Given the description of an element on the screen output the (x, y) to click on. 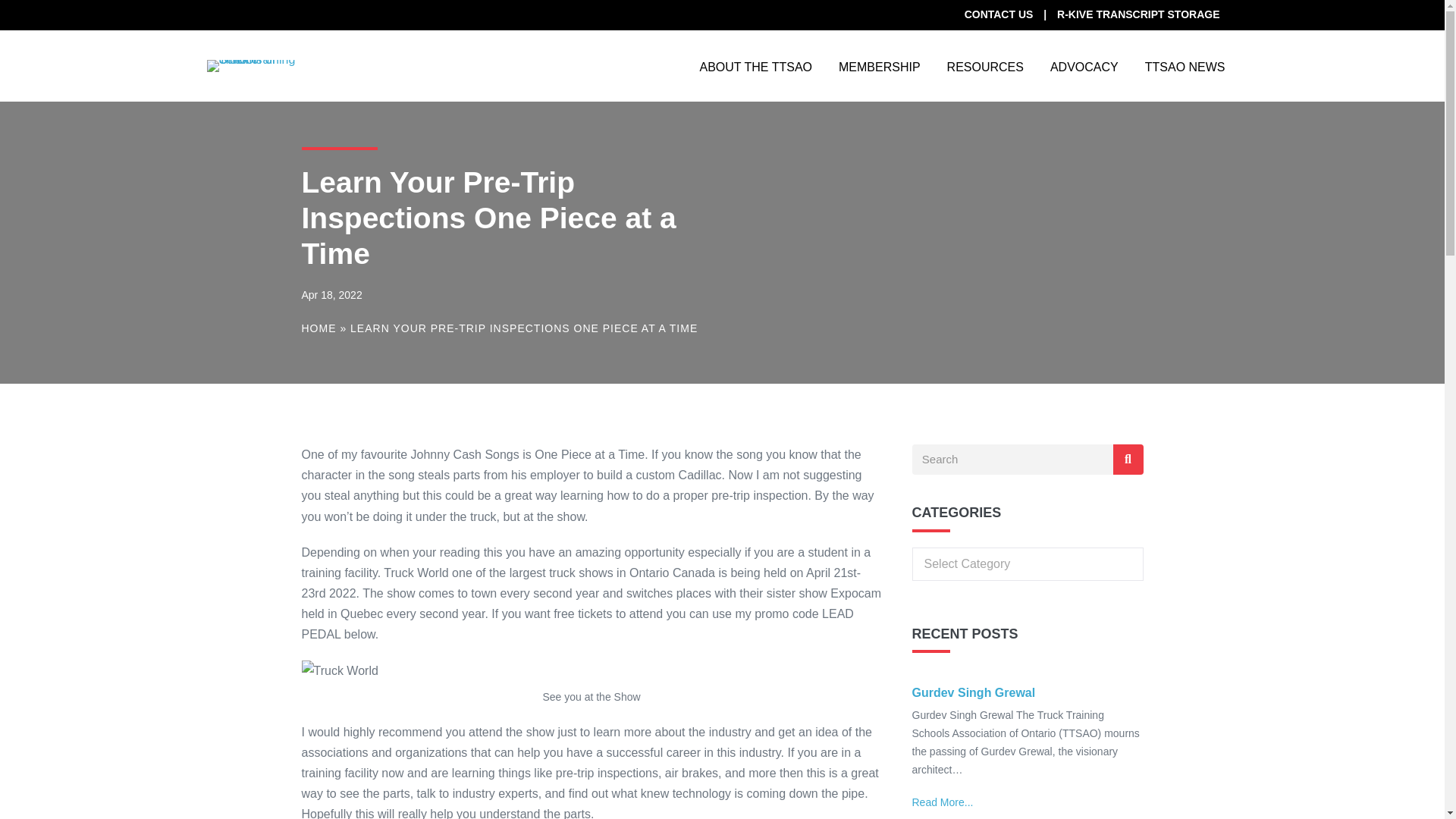
Search (1011, 459)
TTSAO NEWS (1184, 65)
TTSAO Logo (253, 65)
MEMBERSHIP (879, 65)
ADVOCACY (1083, 65)
CONTACT US (998, 14)
Gurdev Singh Grewal (973, 692)
Gurdev Singh Grewal (973, 692)
RESOURCES (985, 65)
R-KIVE TRANSCRIPT STORAGE (1138, 14)
